Given the description of an element on the screen output the (x, y) to click on. 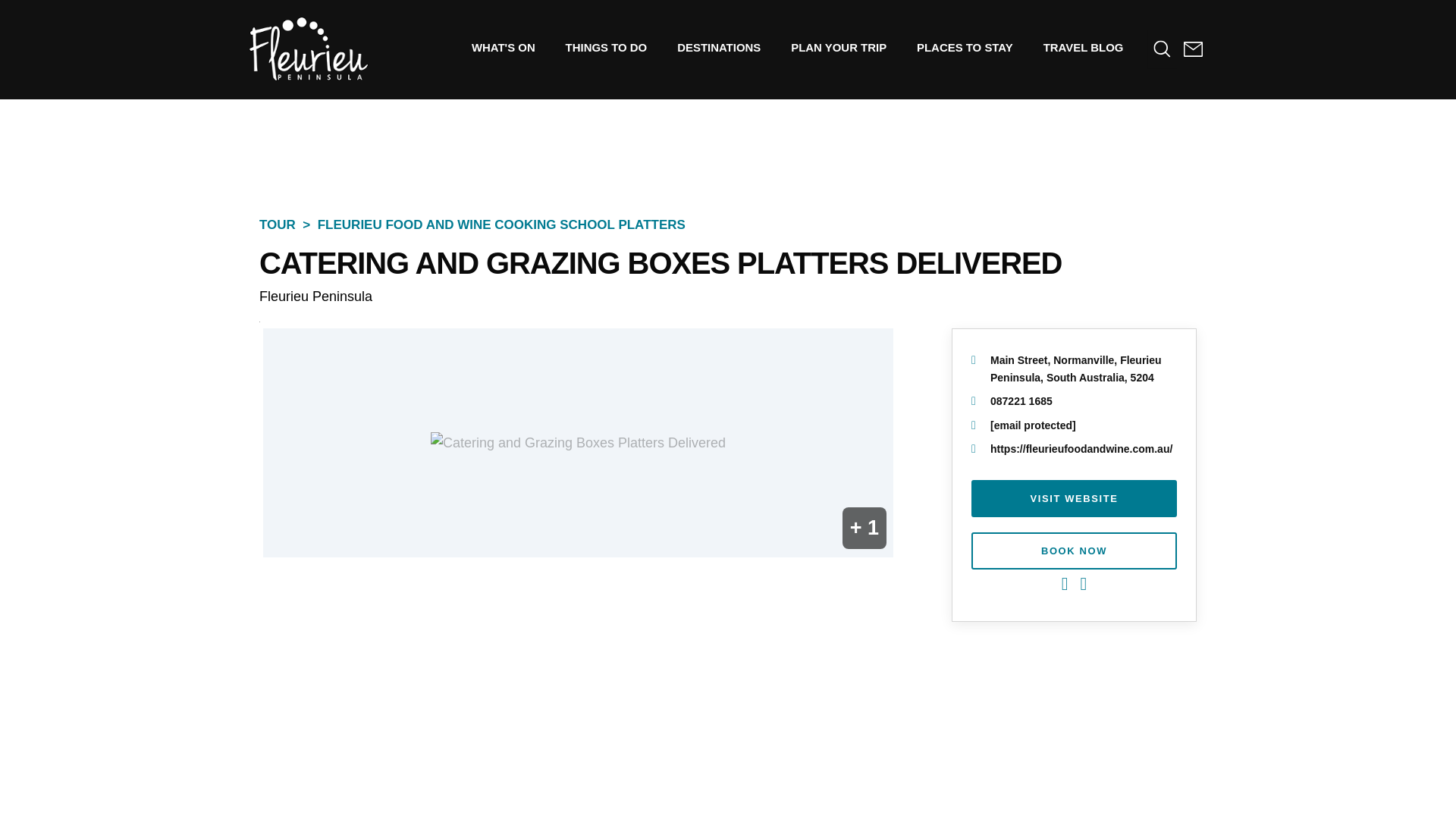
WHAT'S ON (503, 46)
Plan your trip (838, 46)
Places to Stay (964, 46)
Destinations (719, 46)
DESTINATIONS (719, 46)
What's on (503, 46)
PLACES TO STAY (964, 46)
THINGS TO DO (606, 46)
PLAN YOUR TRIP (838, 46)
Things to do (606, 46)
